Given the description of an element on the screen output the (x, y) to click on. 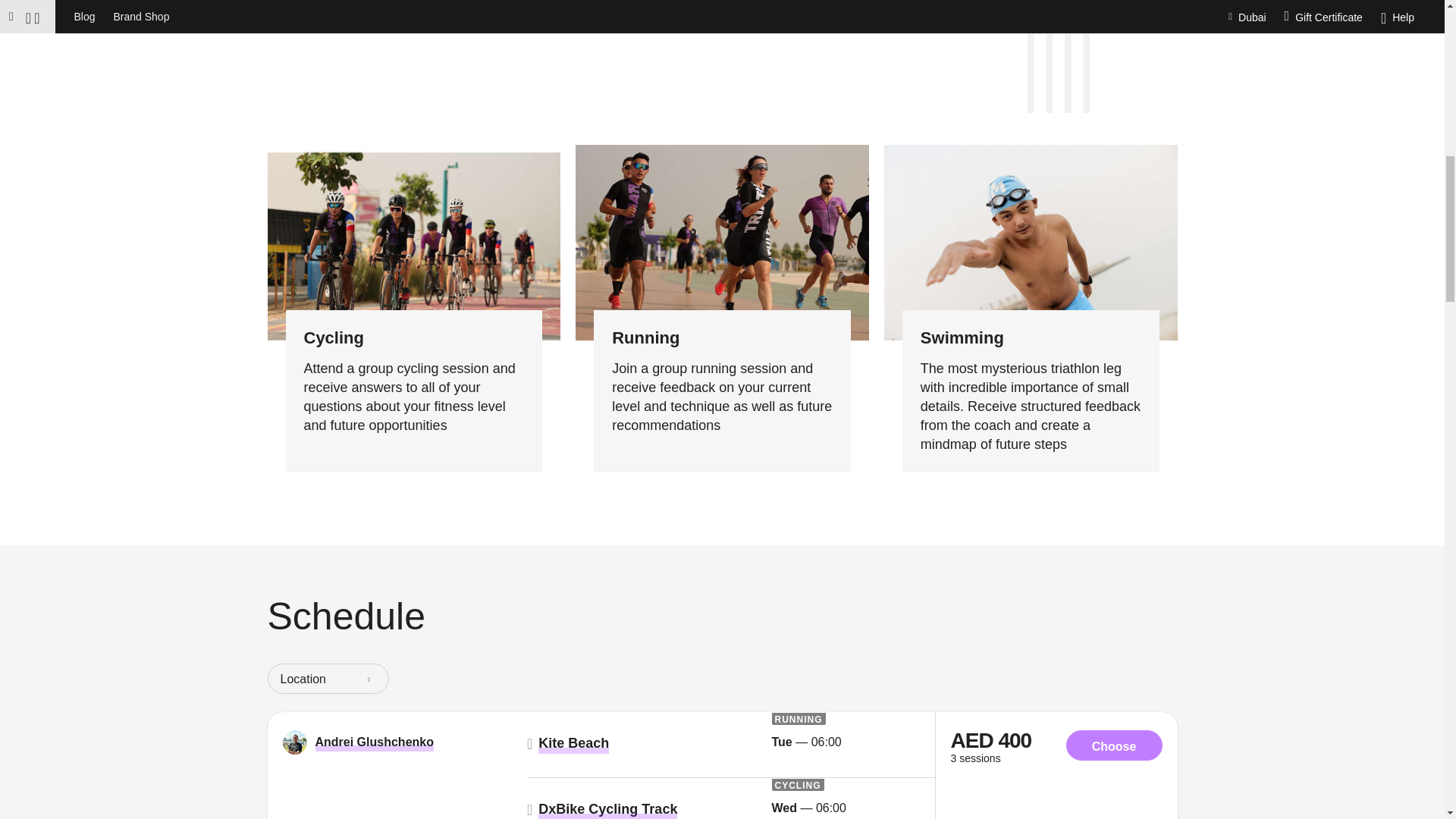
Choose (1113, 745)
